Given the description of an element on the screen output the (x, y) to click on. 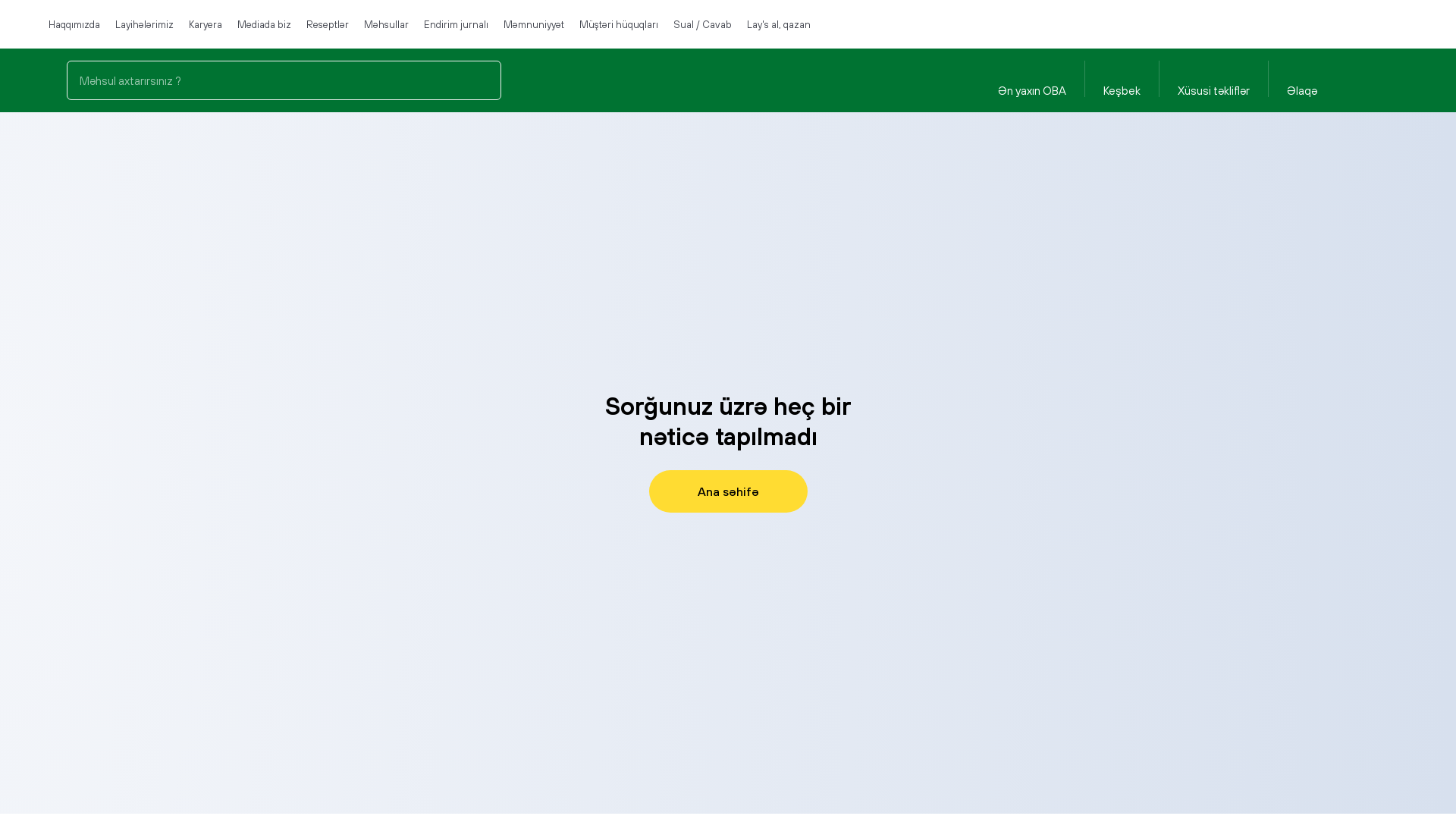
Mediada biz Element type: text (264, 23)
Lay's al, qazan Element type: text (778, 23)
Karyera Element type: text (205, 23)
Sual / Cavab Element type: text (702, 23)
